Given the description of an element on the screen output the (x, y) to click on. 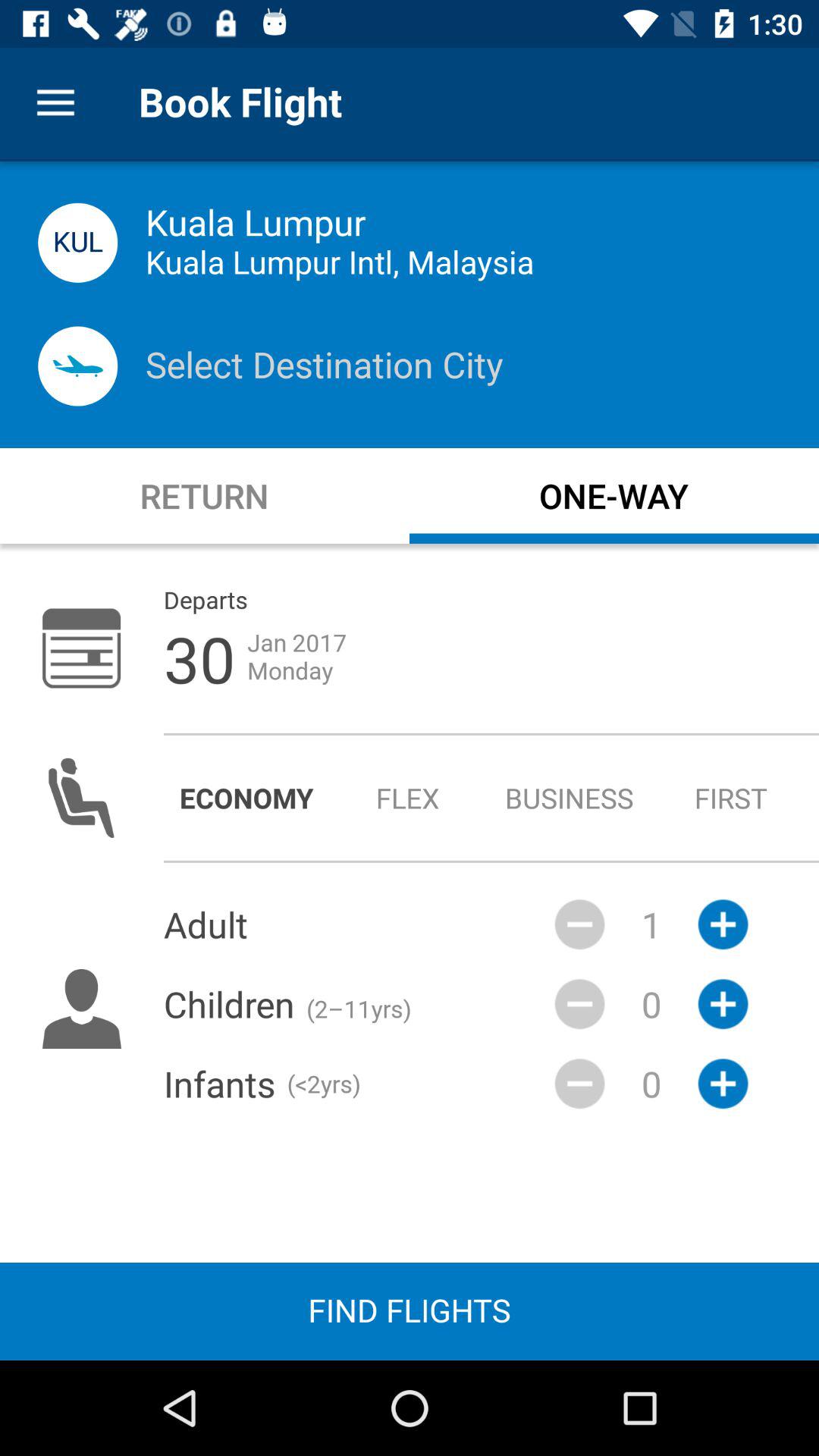
launch radio button to the left of the first radio button (569, 797)
